Given the description of an element on the screen output the (x, y) to click on. 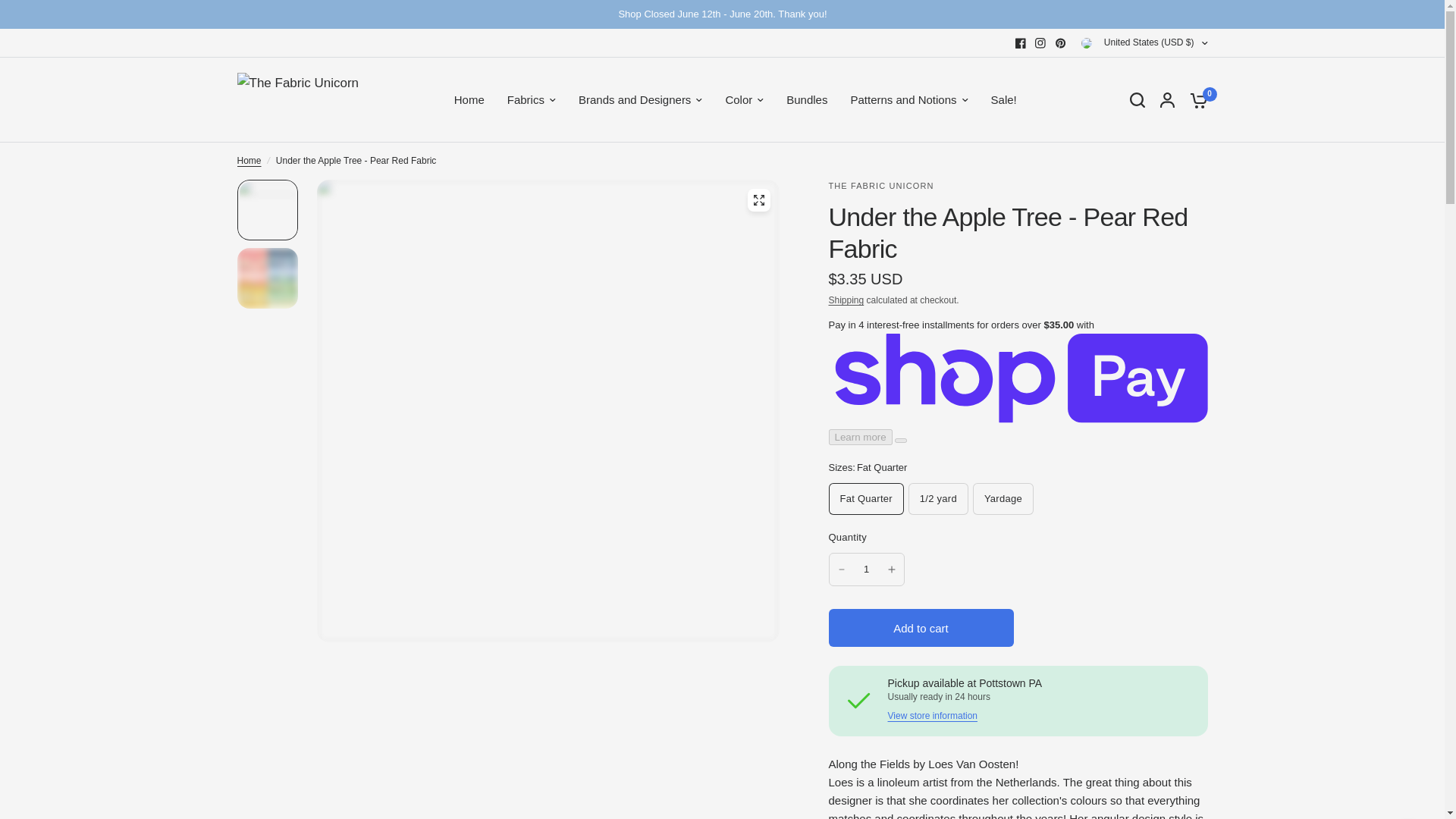
Instagram (1039, 43)
Pinterest (1059, 43)
Facebook (1020, 43)
